Given the description of an element on the screen output the (x, y) to click on. 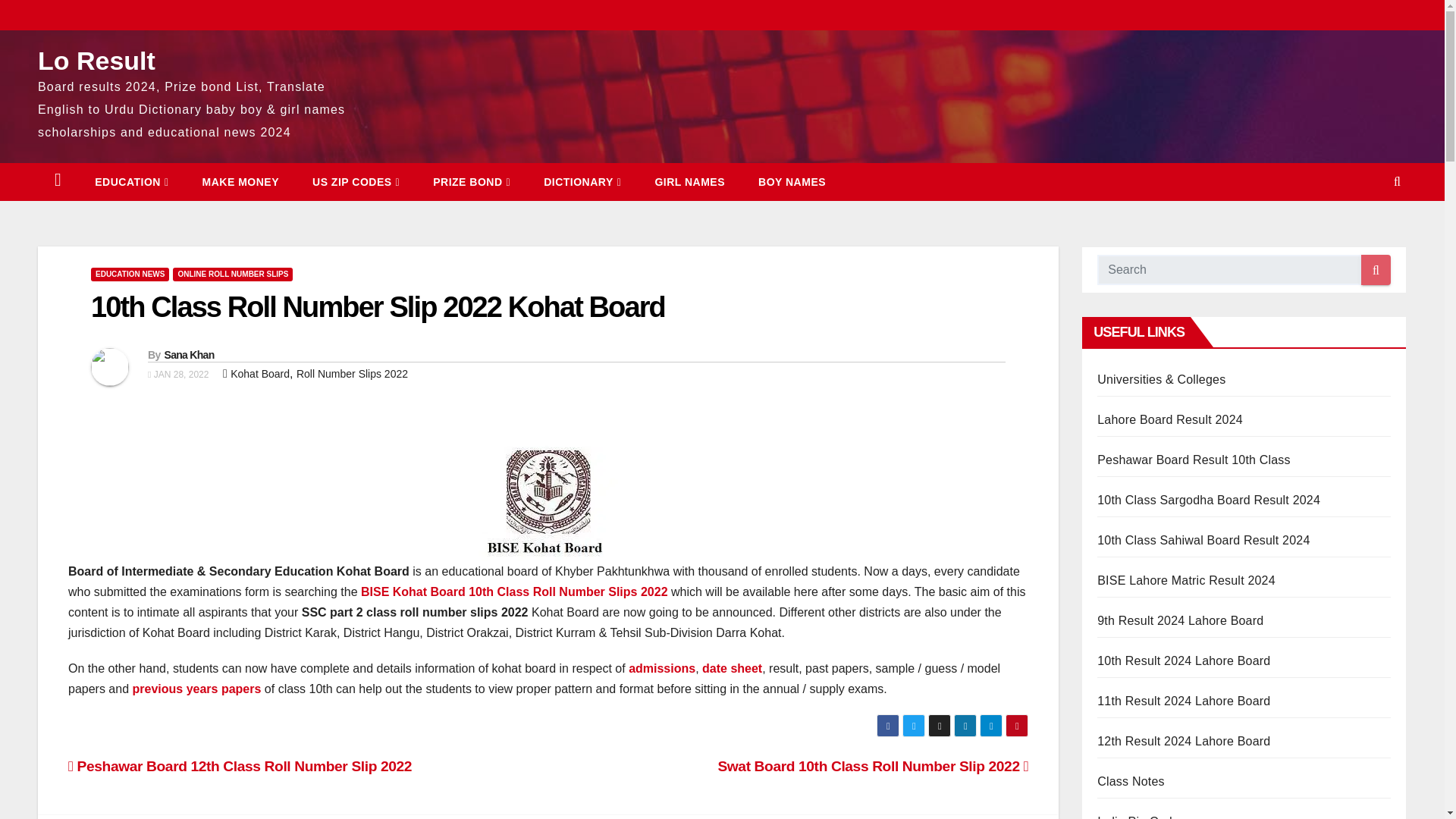
Sana Khan (188, 354)
US ZIP CODES (355, 181)
Permalink to: 10th Class Roll Number Slip 2022 Kohat Board (377, 306)
Lo Result (96, 60)
10th Class Roll Number Slip 2022 Kohat Board (377, 306)
BISE Lahore 11th Class Result 2024 (1183, 700)
MAKE MONEY (240, 181)
BISE Lahore 9th Class Result 2024 (1180, 620)
BISE Lahore Result 2024 (1186, 580)
EDUCATION (131, 181)
BISE Sahiwal Matric, SSC, Matric Result 2024 (1202, 540)
Kohat Board (259, 373)
BISE Lahore Result 2023 (1170, 419)
BISE Sargodha Matric, SSC, Matric Result 2024 (1208, 499)
PRIZE BOND (471, 181)
